Given the description of an element on the screen output the (x, y) to click on. 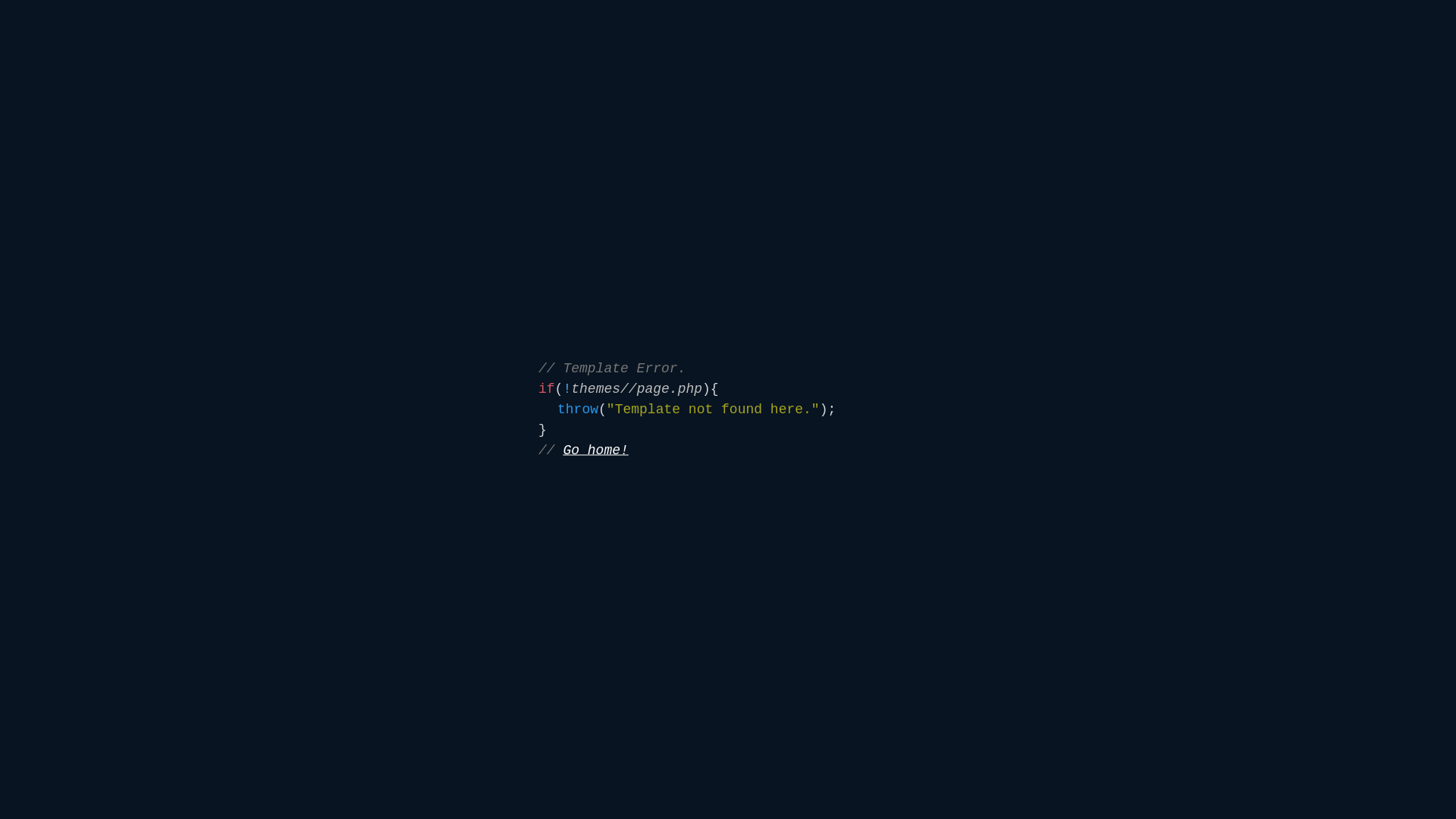
Go home! Element type: text (594, 450)
